Given the description of an element on the screen output the (x, y) to click on. 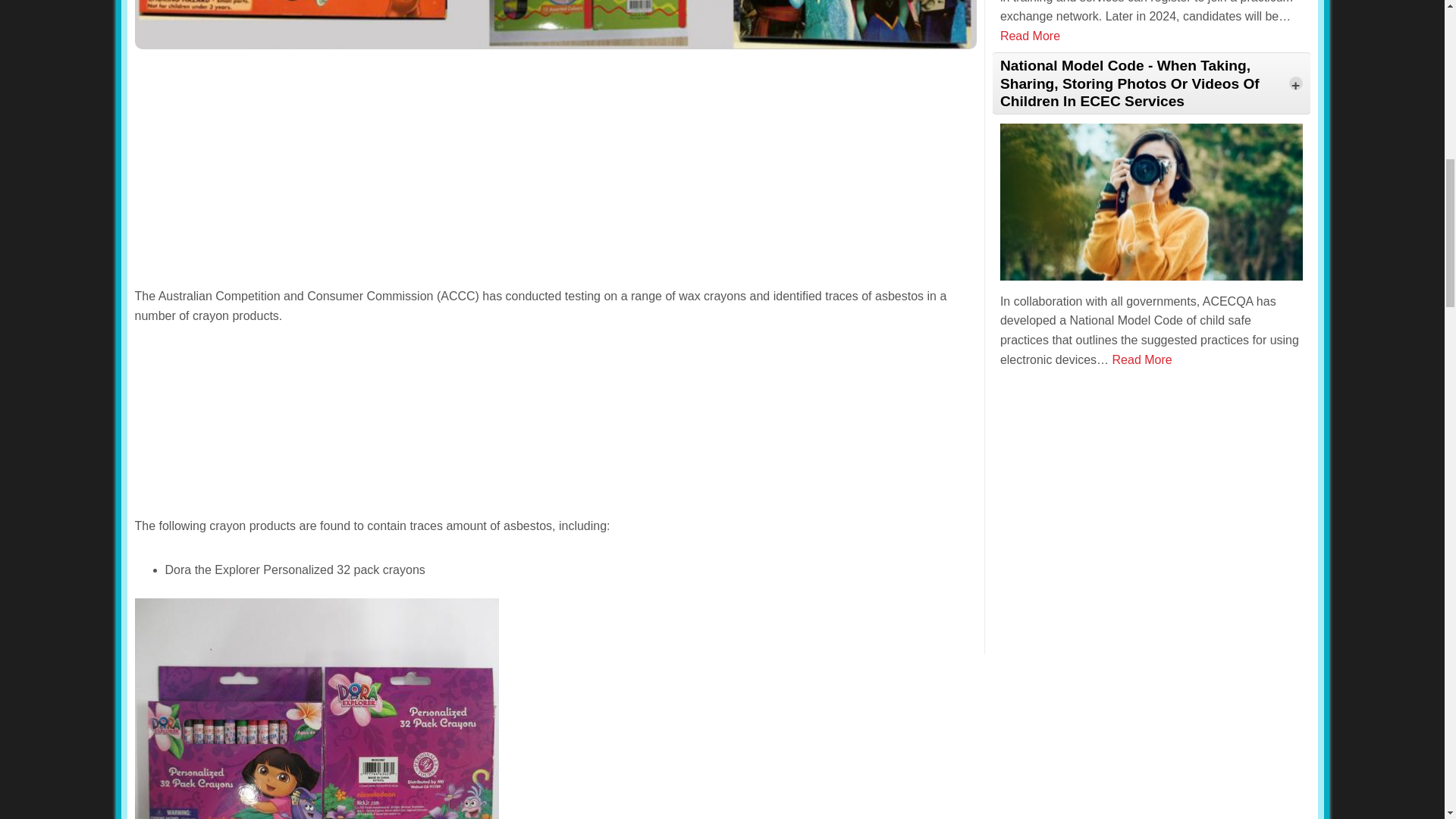
Read More (1029, 35)
Advertisement (555, 425)
Advertisement (1151, 498)
